Given the description of an element on the screen output the (x, y) to click on. 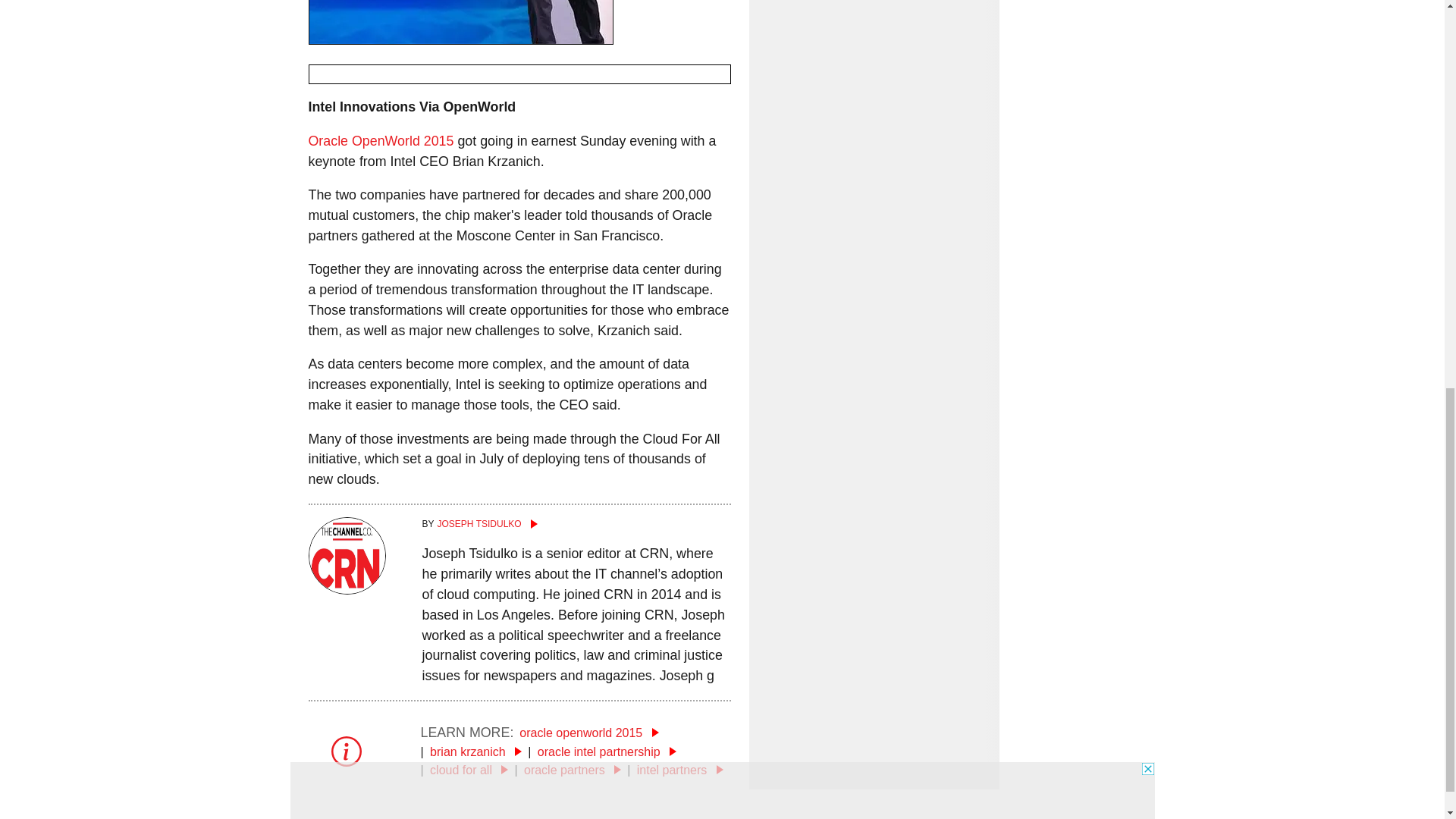
brian krzanich (475, 751)
intel partners (680, 769)
Oracle OpenWorld 2015 (379, 140)
cloud for all (468, 769)
oracle intel partnership (607, 751)
Joseph Tsidulko (576, 523)
oracle partners (572, 769)
oracle partners (572, 769)
oracle openworld 2015 (588, 732)
JOSEPH TSIDULKO (576, 523)
